Given the description of an element on the screen output the (x, y) to click on. 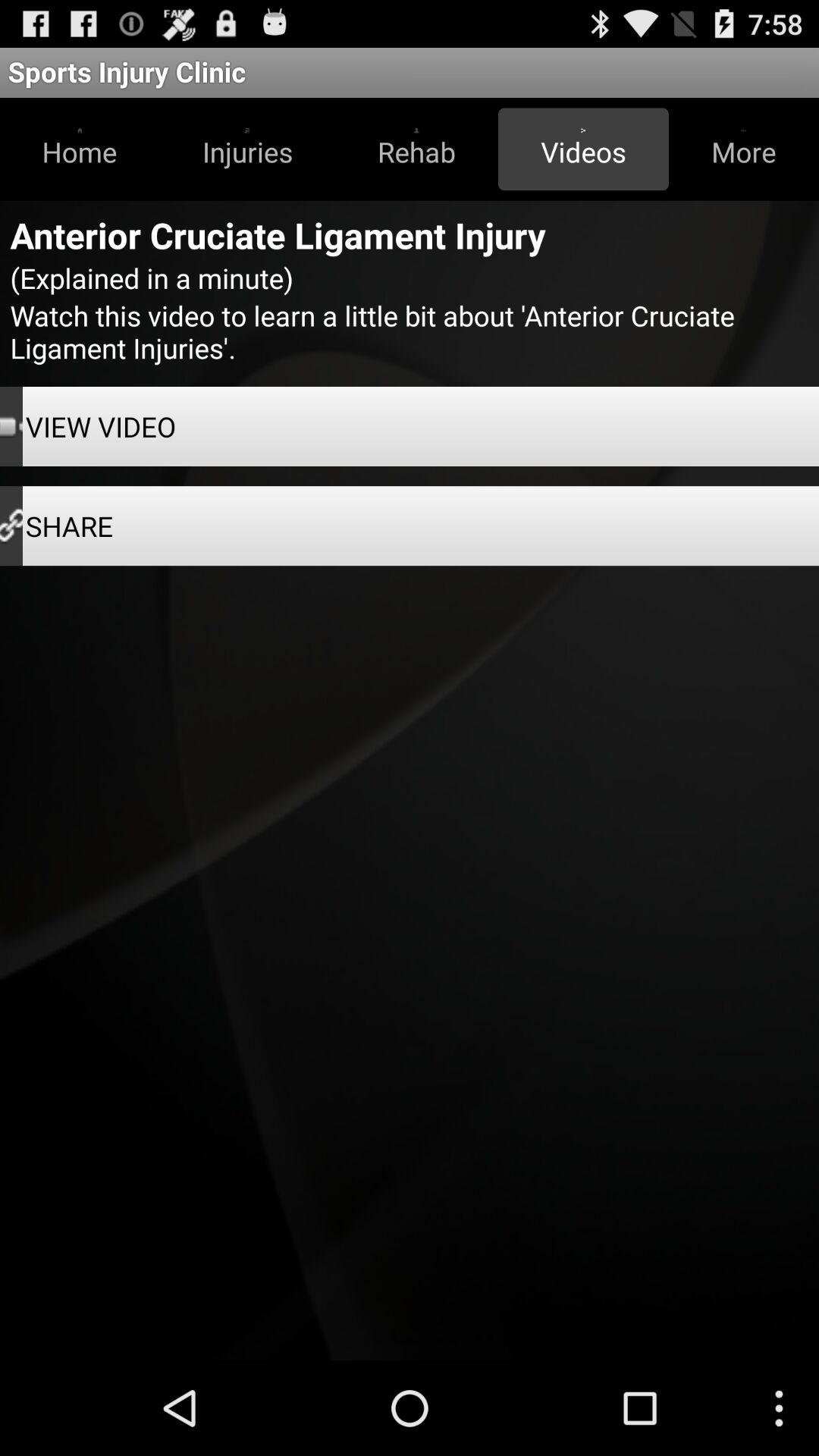
scroll until videos item (583, 149)
